Given the description of an element on the screen output the (x, y) to click on. 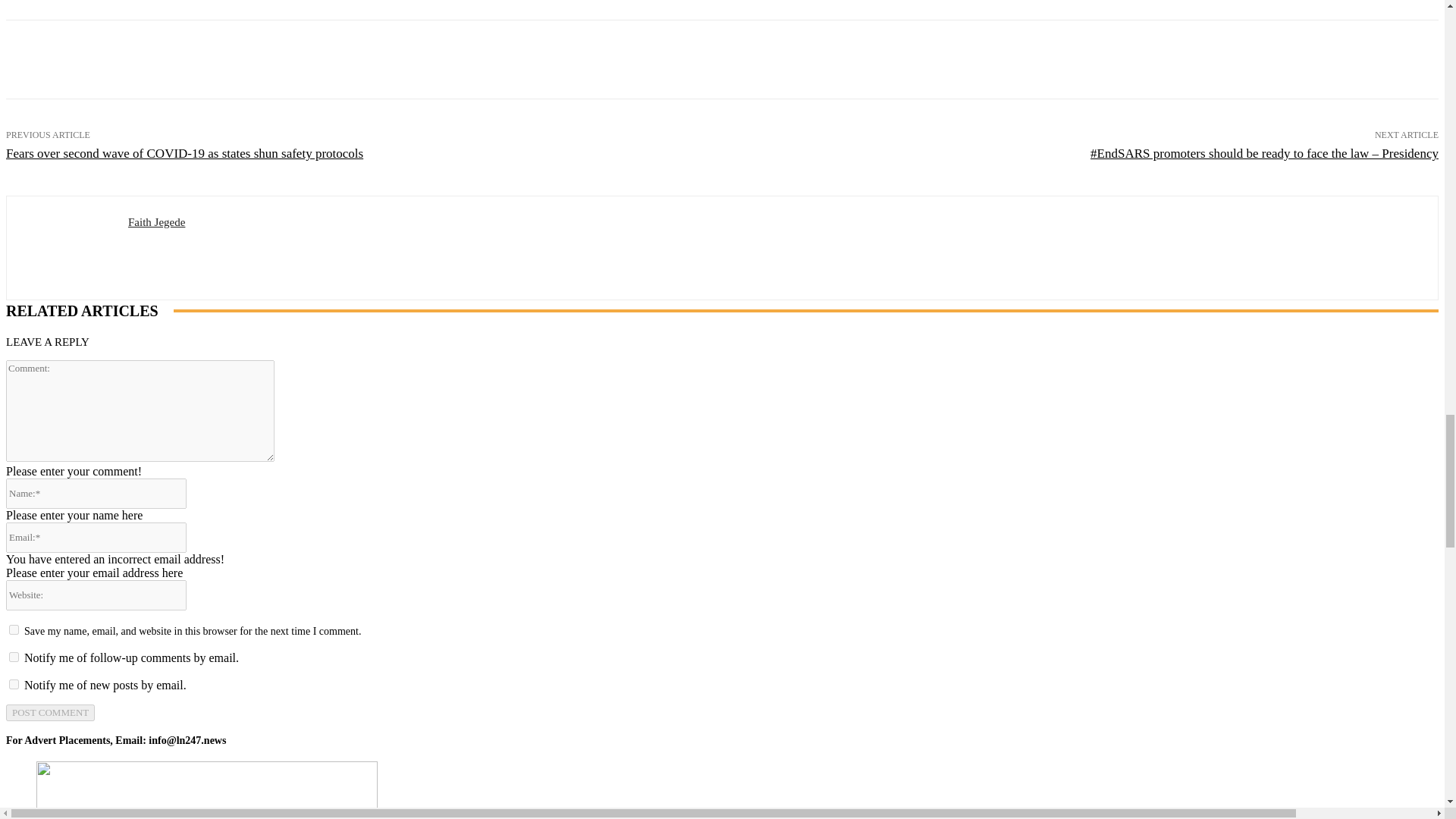
Post Comment (49, 712)
subscribe (13, 684)
yes (13, 629)
subscribe (13, 656)
